Given the description of an element on the screen output the (x, y) to click on. 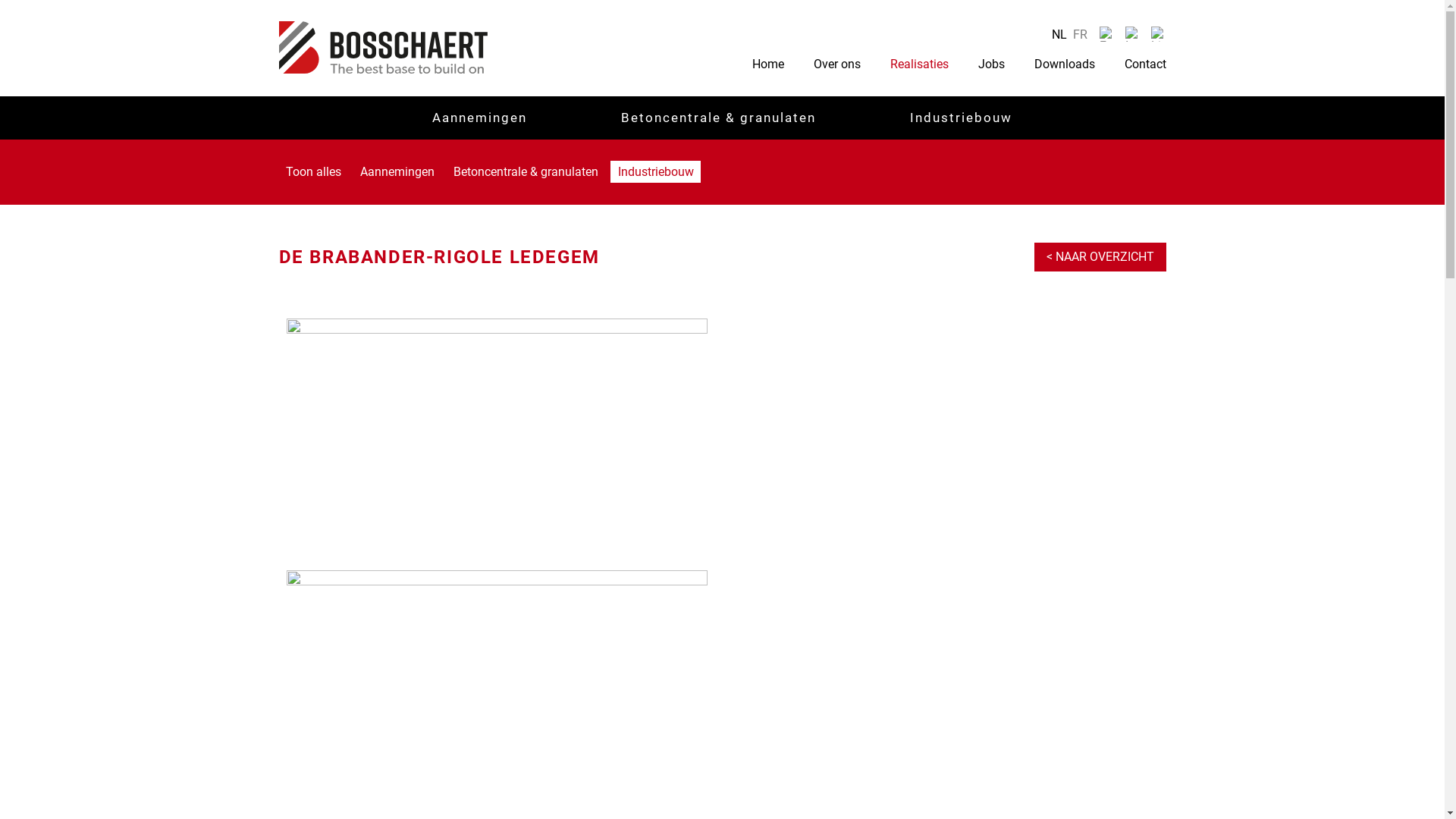
Betoncentrale & granulaten Element type: text (525, 171)
FR Element type: text (1079, 34)
Jobs Element type: text (990, 64)
Aannemingen Element type: text (397, 171)
Home Element type: text (767, 64)
Realisaties Element type: text (918, 64)
Toon alles Element type: text (313, 171)
Over ons Element type: text (836, 64)
Industriebouw Element type: text (961, 114)
Betoncentrale & granulaten Element type: text (718, 114)
Industriebouw Element type: text (655, 171)
Downloads Element type: text (1063, 64)
NL Element type: text (1058, 34)
Aannemingen Element type: text (479, 114)
Contact Element type: text (1143, 64)
< NAAR OVERZICHT Element type: text (1100, 256)
